Given the description of an element on the screen output the (x, y) to click on. 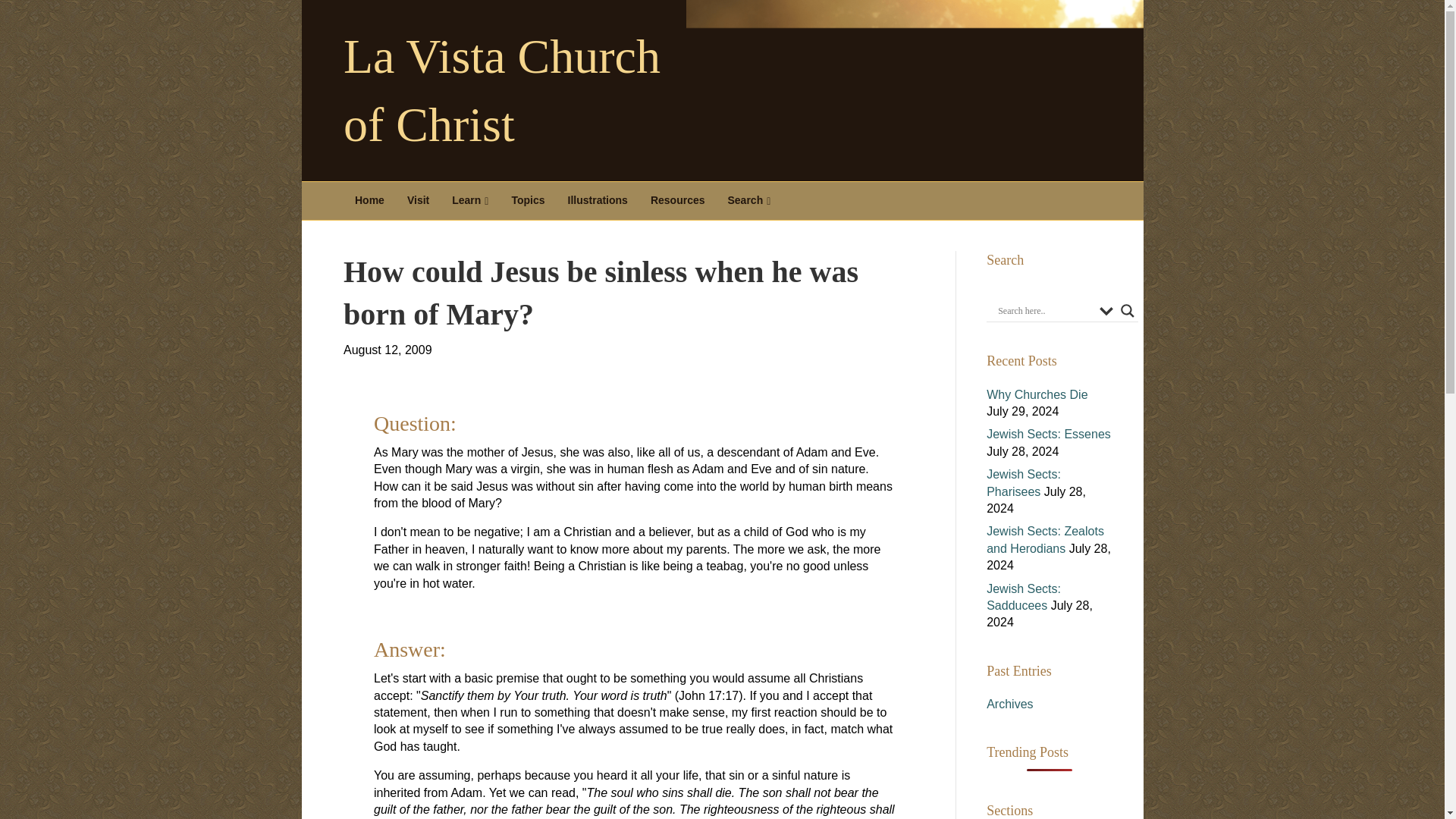
Home (369, 200)
Topics (527, 200)
Illustrations (597, 200)
La Vista Church of Christ (521, 90)
Search (748, 200)
Resources (677, 200)
Learn (470, 200)
Visit (418, 200)
